Given the description of an element on the screen output the (x, y) to click on. 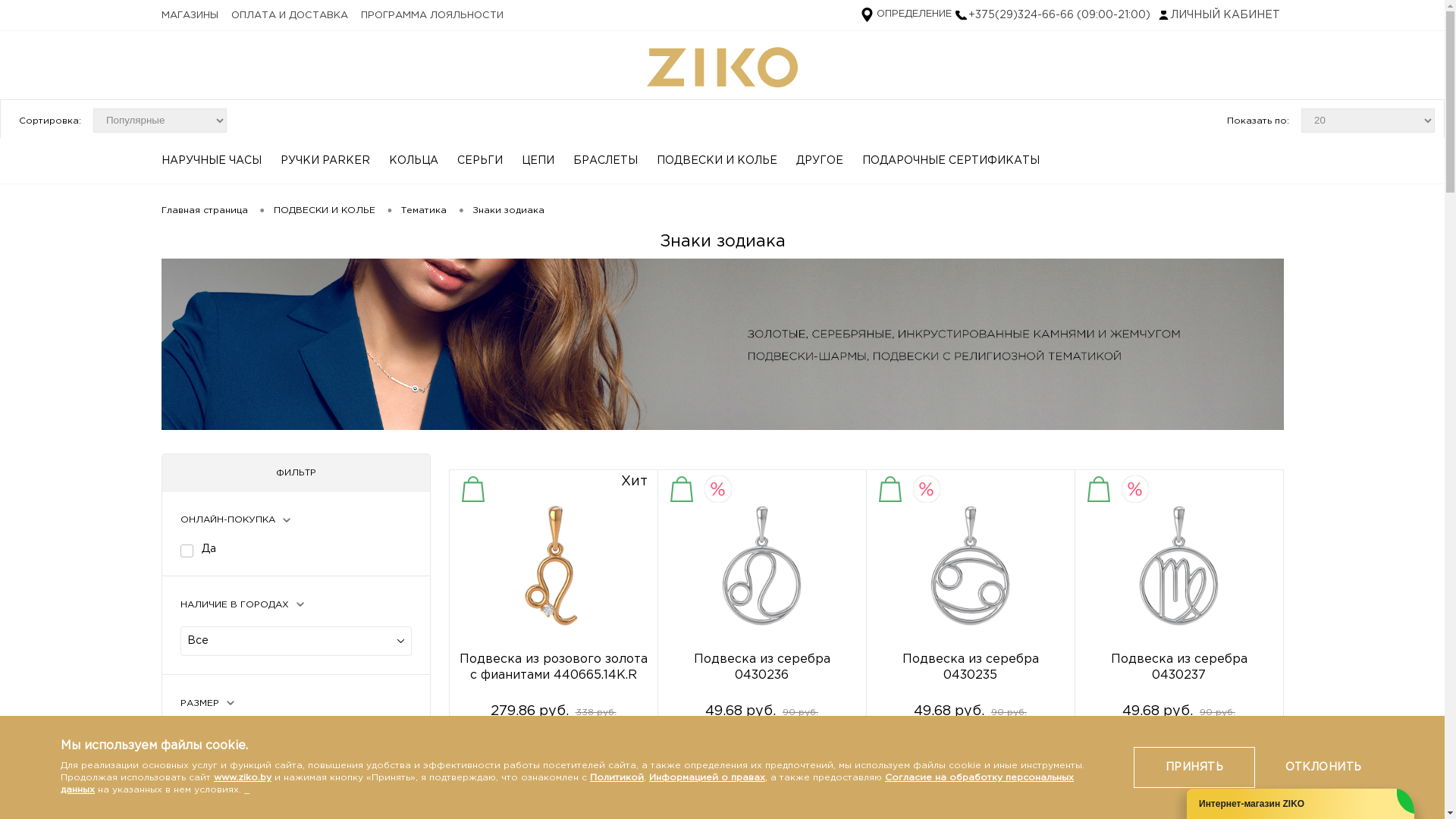
Y Element type: text (188, 548)
www.ziko.by Element type: text (242, 777)
Y Element type: text (188, 732)
+375(29)324-66-66 (09:00-21:00) Element type: text (1052, 14)
